Given the description of an element on the screen output the (x, y) to click on. 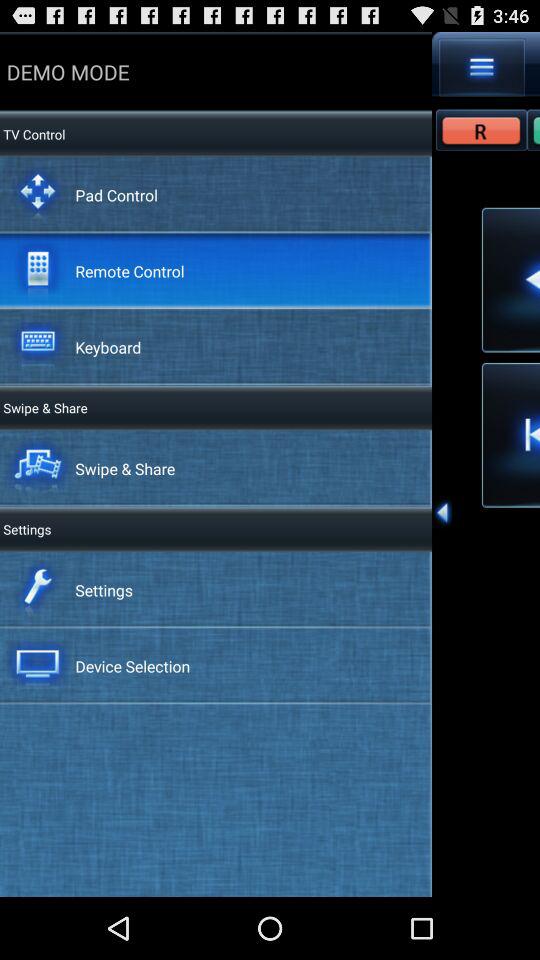
jump until the remote control app (129, 270)
